Given the description of an element on the screen output the (x, y) to click on. 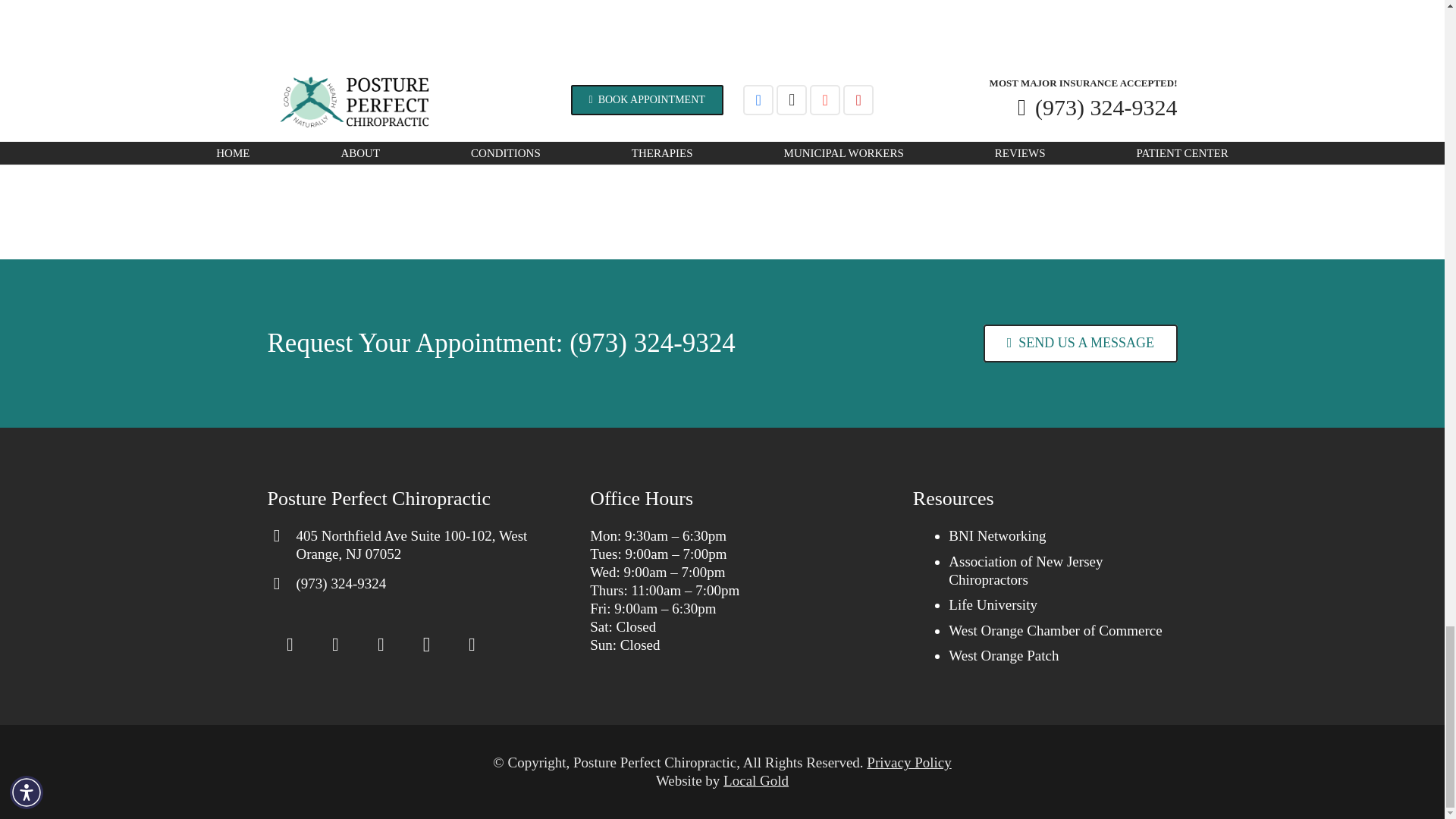
Facebook (335, 644)
Email (289, 644)
Contact Us (1080, 343)
